Given the description of an element on the screen output the (x, y) to click on. 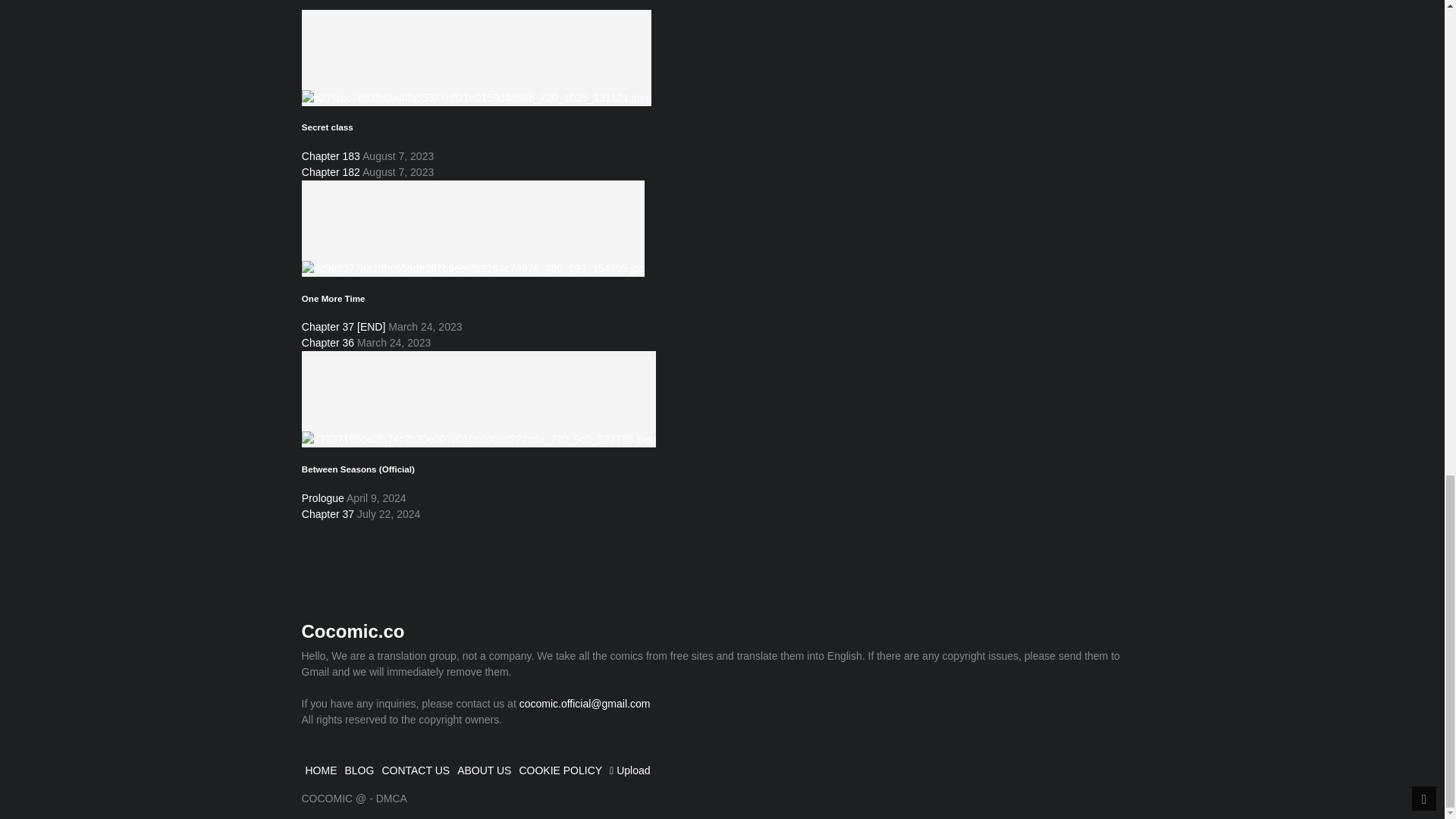
Secret class (476, 56)
One More Time (333, 298)
One More Time (473, 227)
Secret class (327, 126)
